Given the description of an element on the screen output the (x, y) to click on. 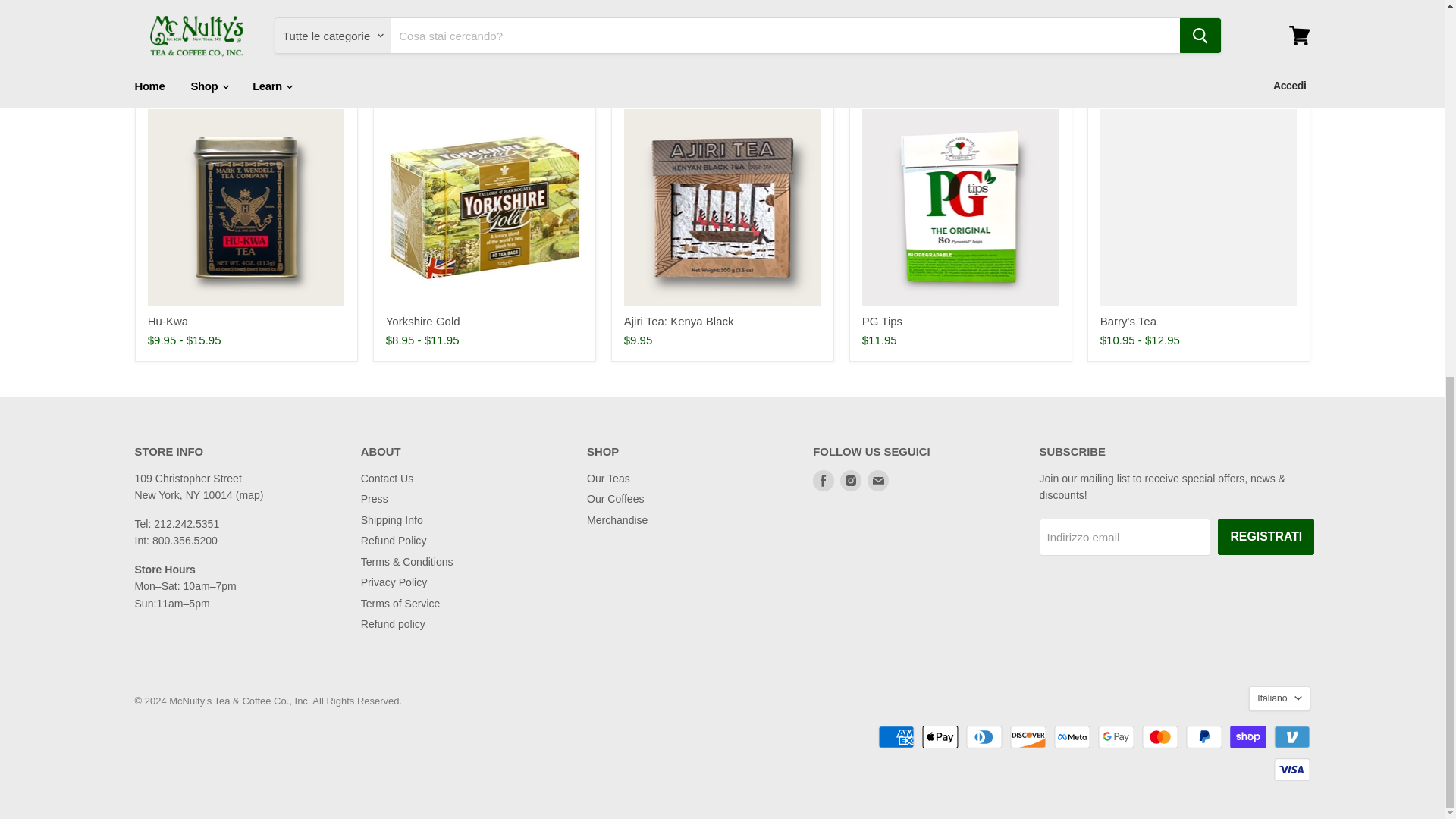
Discover (1028, 736)
Instagram (850, 480)
Apple Pay (939, 736)
Google Map (248, 494)
Meta Pay (1072, 736)
Diners Club (984, 736)
American Express (895, 736)
Email (877, 480)
Facebook (823, 480)
